Given the description of an element on the screen output the (x, y) to click on. 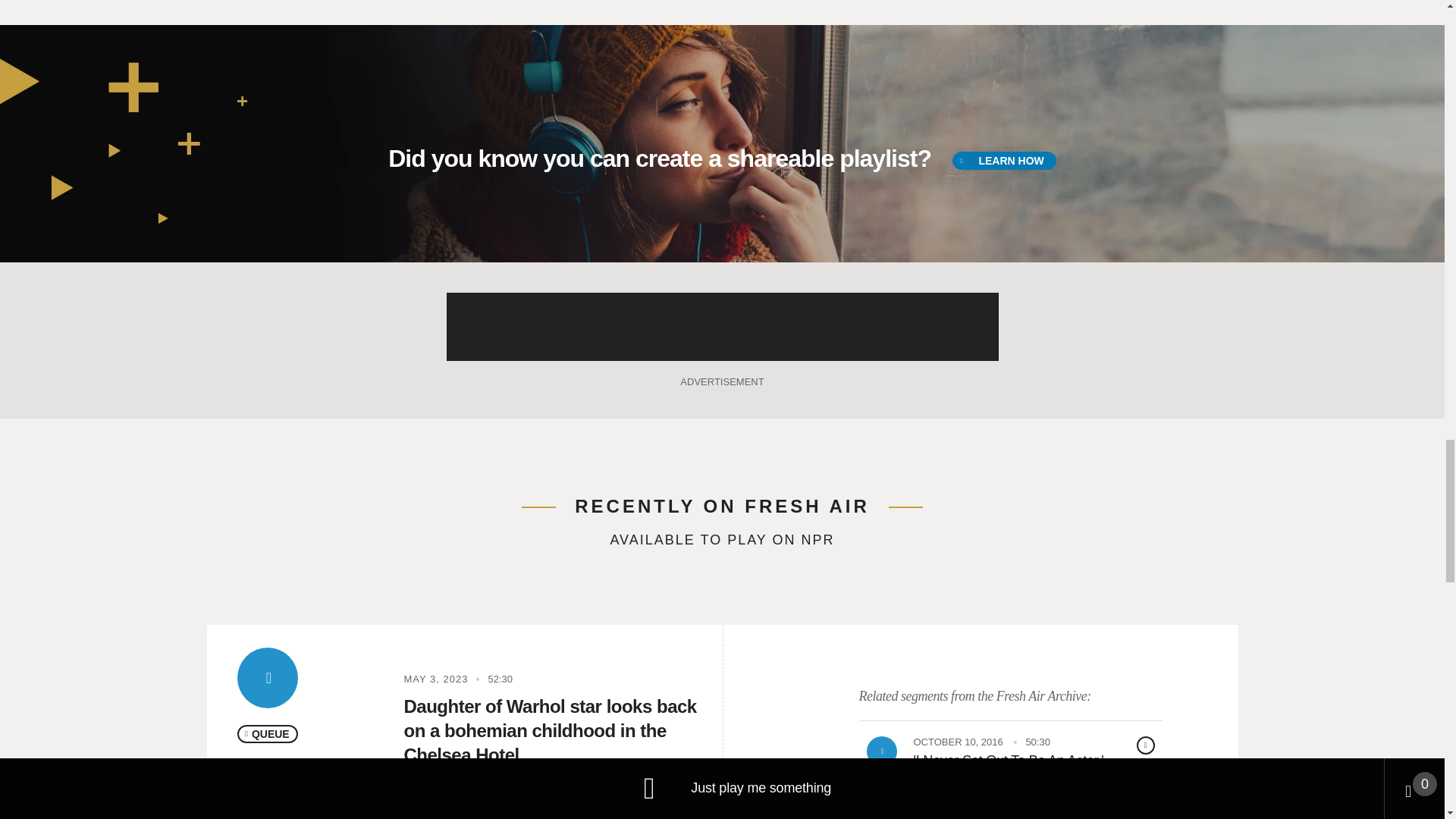
3rd party ad content (721, 326)
